Given the description of an element on the screen output the (x, y) to click on. 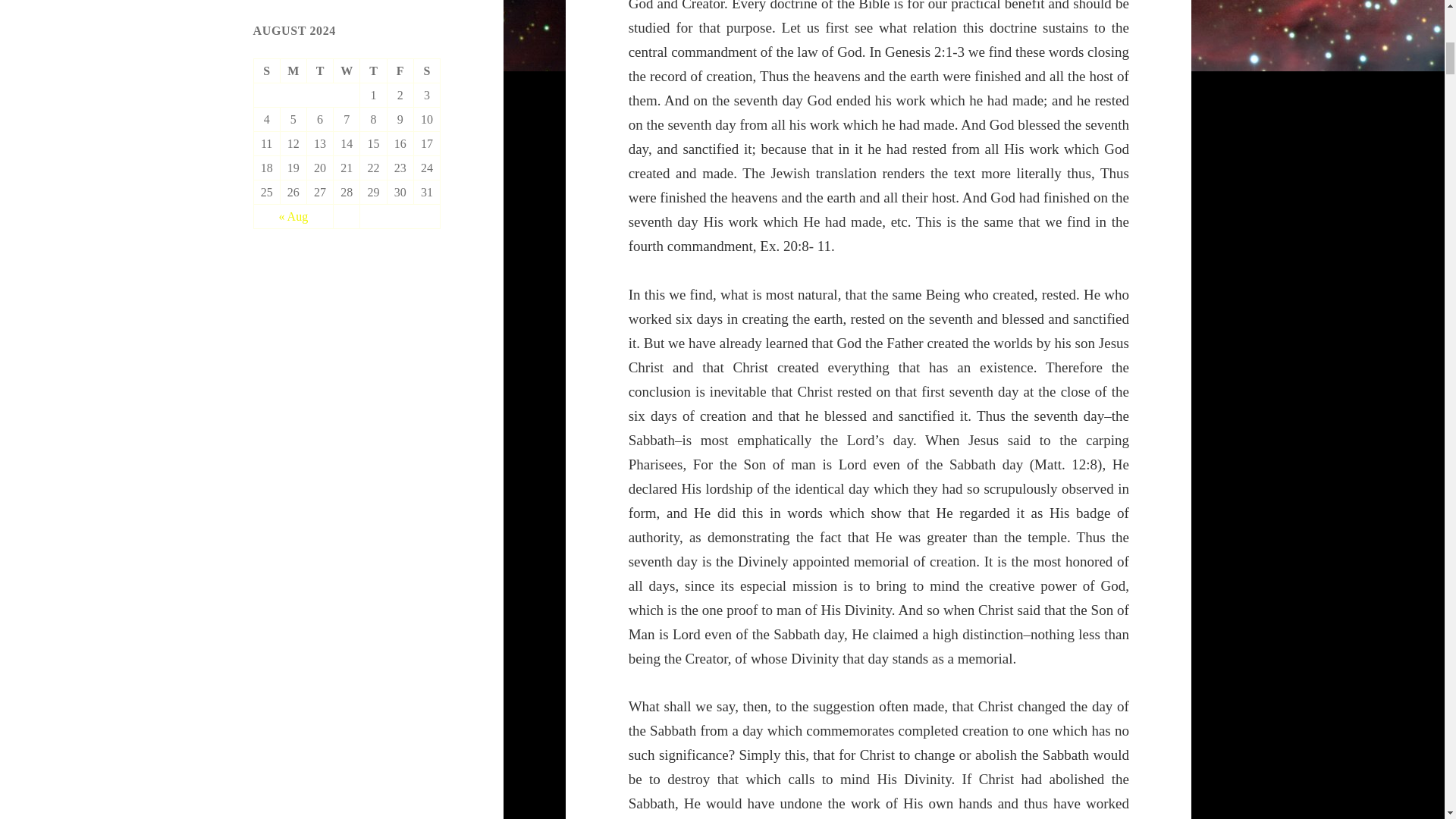
Tuesday (320, 70)
Saturday (427, 70)
Friday (400, 70)
Monday (294, 70)
Thursday (373, 70)
Wednesday (346, 70)
Sunday (267, 70)
